Given the description of an element on the screen output the (x, y) to click on. 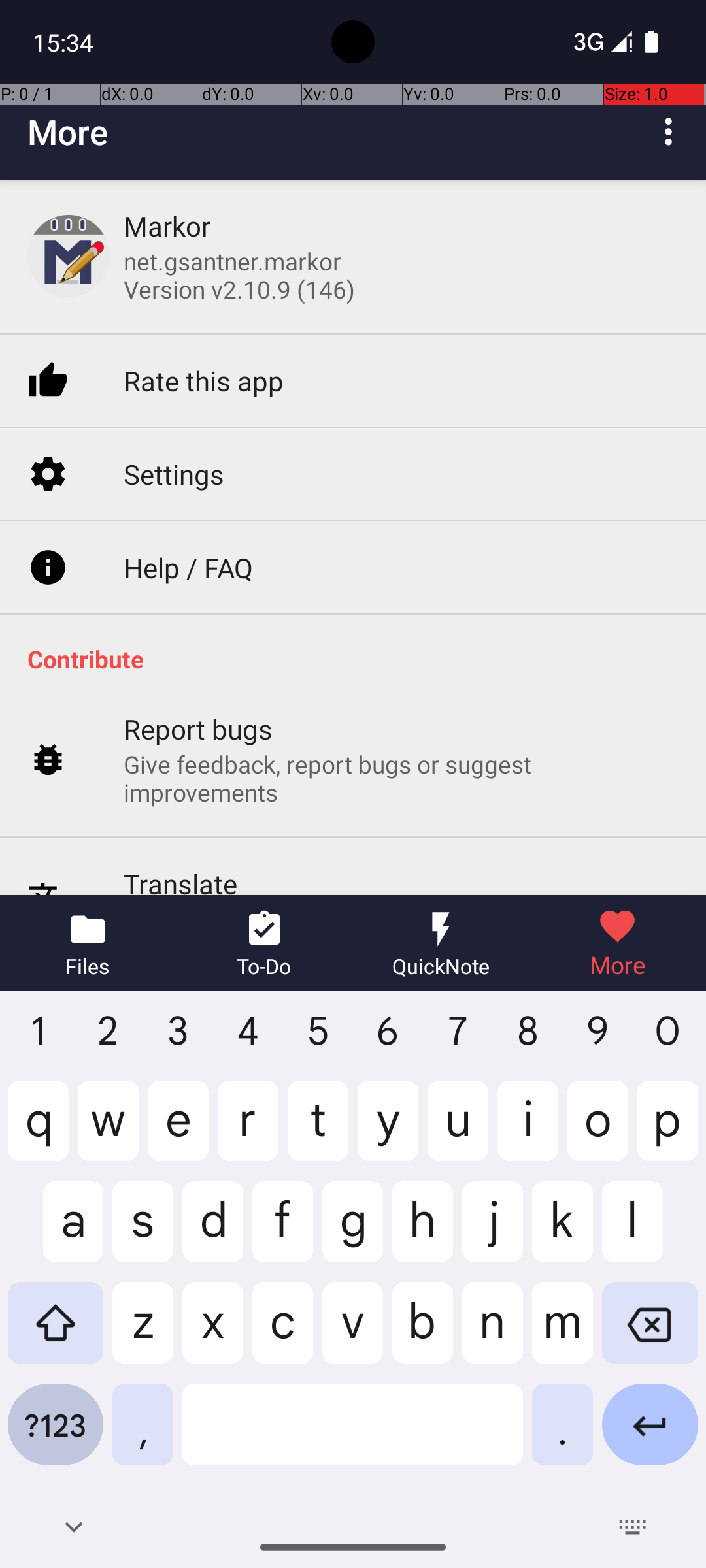
Contribute Element type: android.widget.TextView (359, 598)
net.gsantner.markor
Version v2.10.9 (146) Element type: android.widget.TextView (239, 274)
Rate this app Element type: android.widget.TextView (203, 327)
Help / FAQ Element type: android.widget.TextView (188, 512)
Report bugs Element type: android.widget.TextView (198, 672)
Give feedback, report bugs or suggest improvements Element type: android.widget.TextView (400, 722)
Translate Element type: android.widget.TextView (180, 826)
Translate this app into other languages Element type: android.widget.TextView (331, 861)
